Given the description of an element on the screen output the (x, y) to click on. 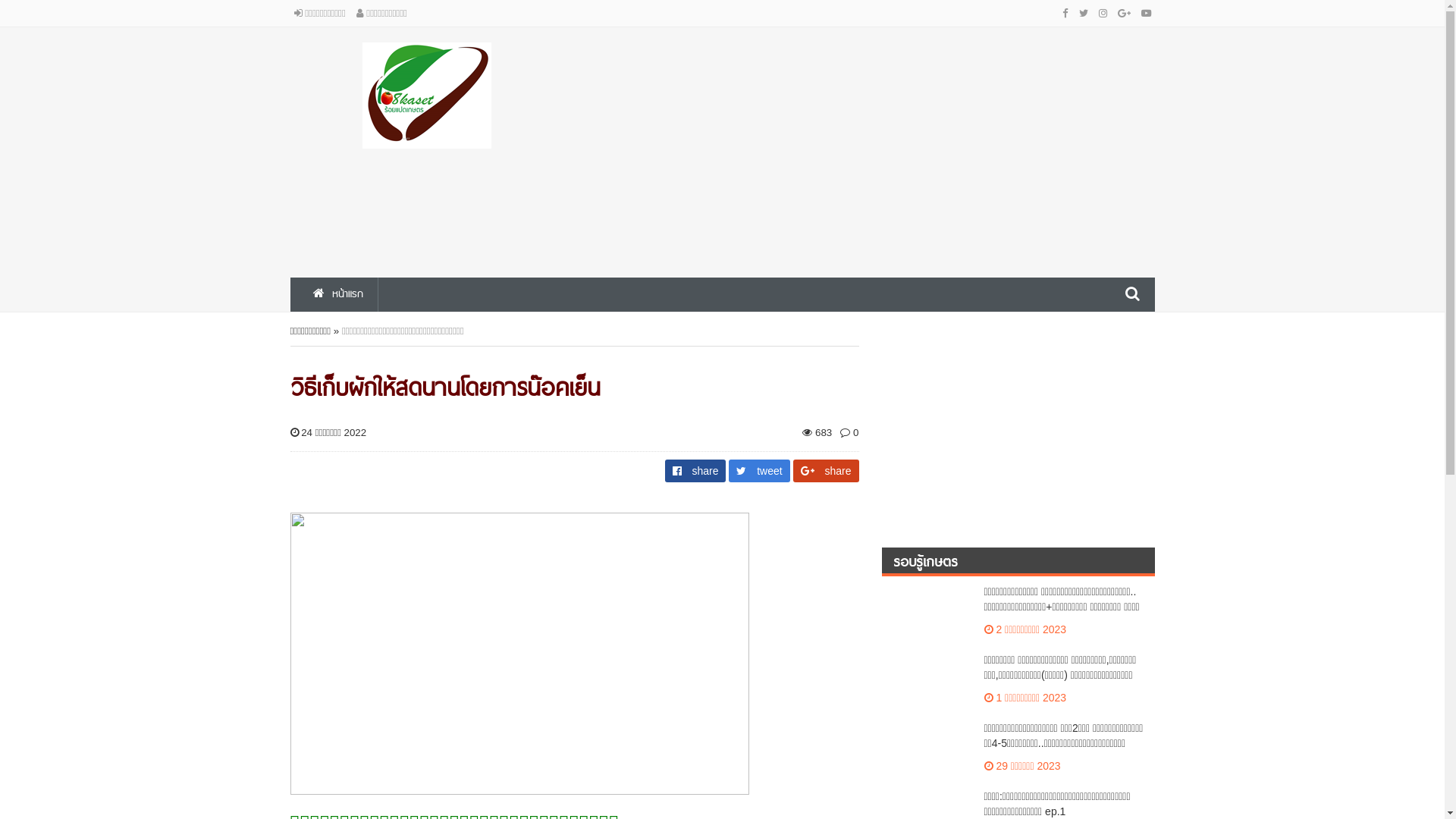
Advertisement Element type: hover (869, 148)
share Element type: text (697, 470)
share Element type: text (826, 470)
tweet Element type: text (760, 470)
Advertisement Element type: hover (1017, 426)
